Given the description of an element on the screen output the (x, y) to click on. 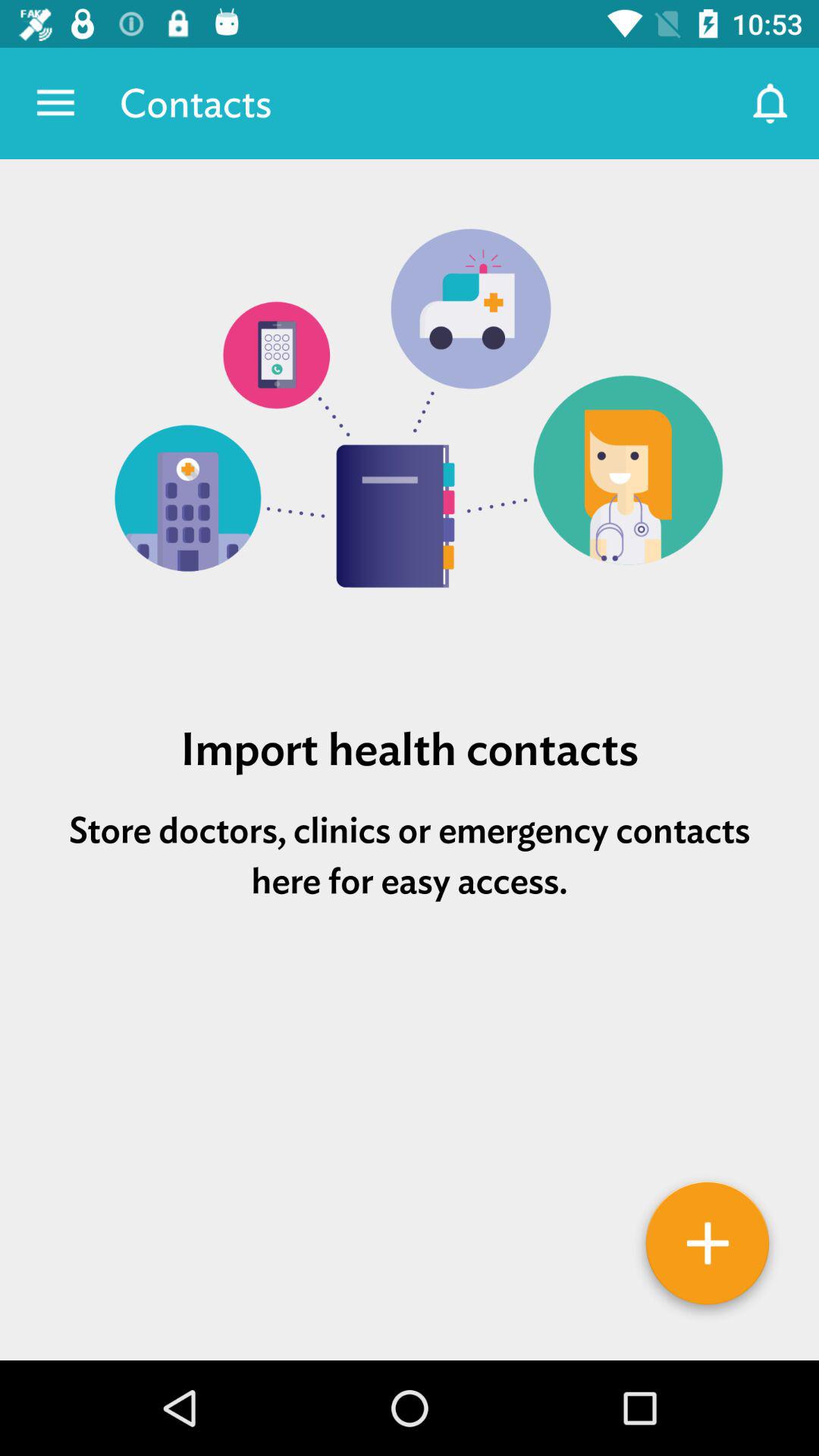
click the import health contacts icon (409, 748)
